Given the description of an element on the screen output the (x, y) to click on. 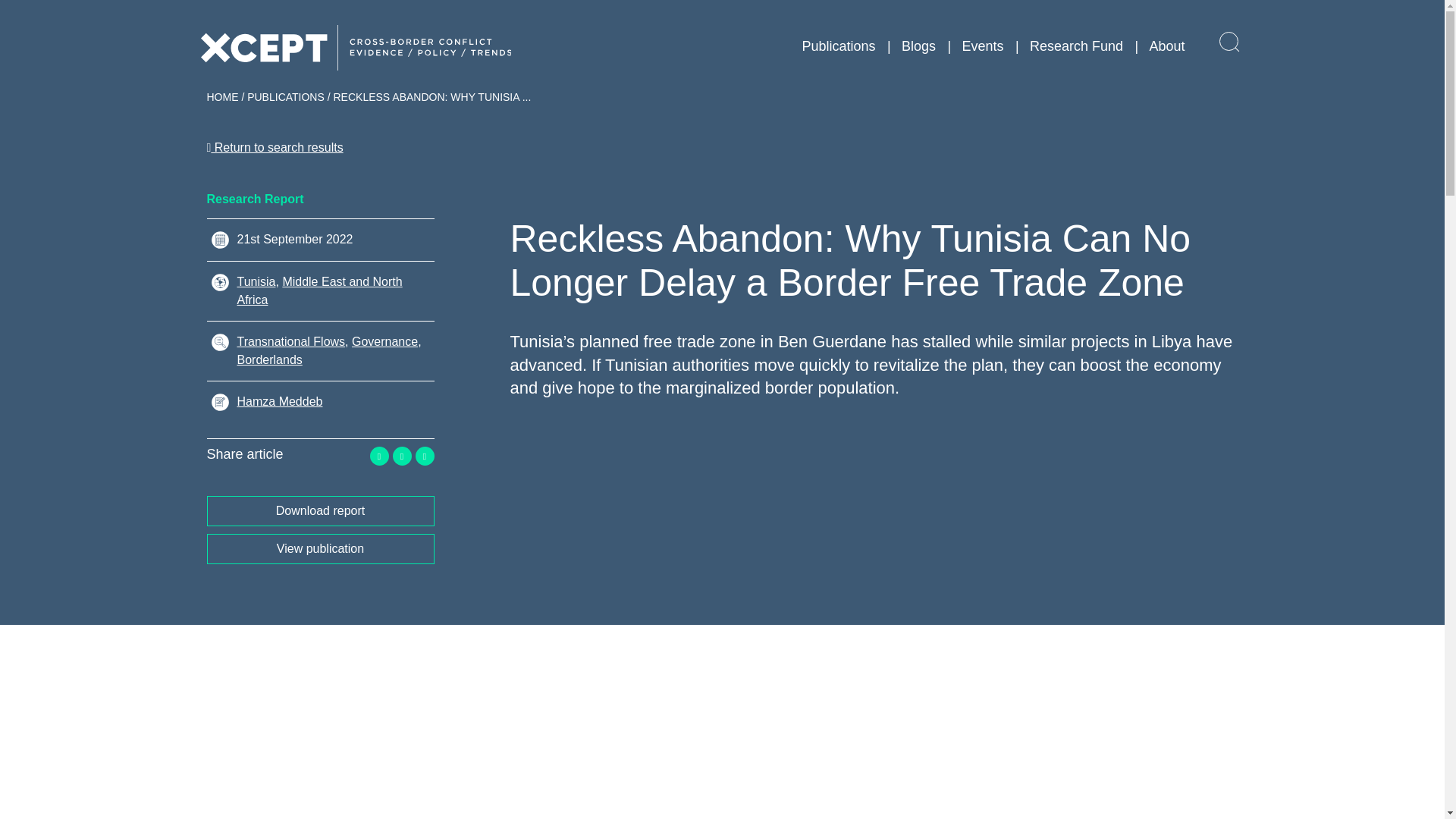
Governance (384, 341)
Download report (319, 511)
PUBLICATIONS (285, 96)
Hamza Meddeb (278, 400)
Publications (838, 46)
Return to search results (274, 146)
About (1166, 46)
View publication (319, 548)
Borderlands (327, 368)
Transnational Flows (290, 341)
Blogs (918, 46)
Research Fund (1075, 46)
HOME (222, 96)
Middle East and North Africa (318, 290)
Events (981, 46)
